Given the description of an element on the screen output the (x, y) to click on. 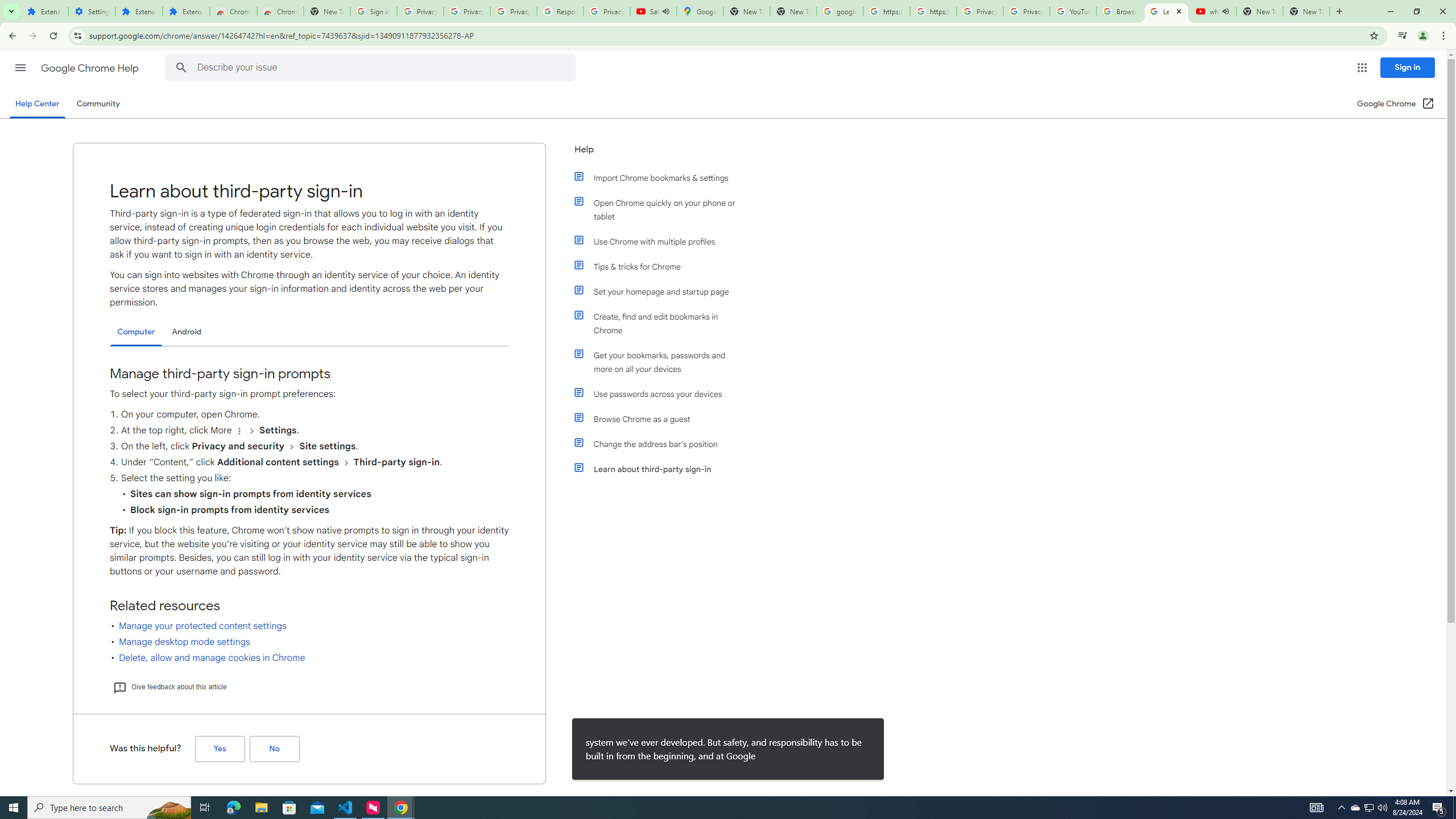
Search Help Center (181, 67)
https://scholar.google.com/ (886, 11)
Extensions (186, 11)
and then (345, 462)
Get your bookmarks, passwords and more on all your devices (661, 362)
Google Chrome (Open in a new window) (1395, 103)
Main menu (20, 67)
Delete, allow and manage cookies in Chrome (212, 657)
Tips & tricks for Chrome (661, 266)
